Given the description of an element on the screen output the (x, y) to click on. 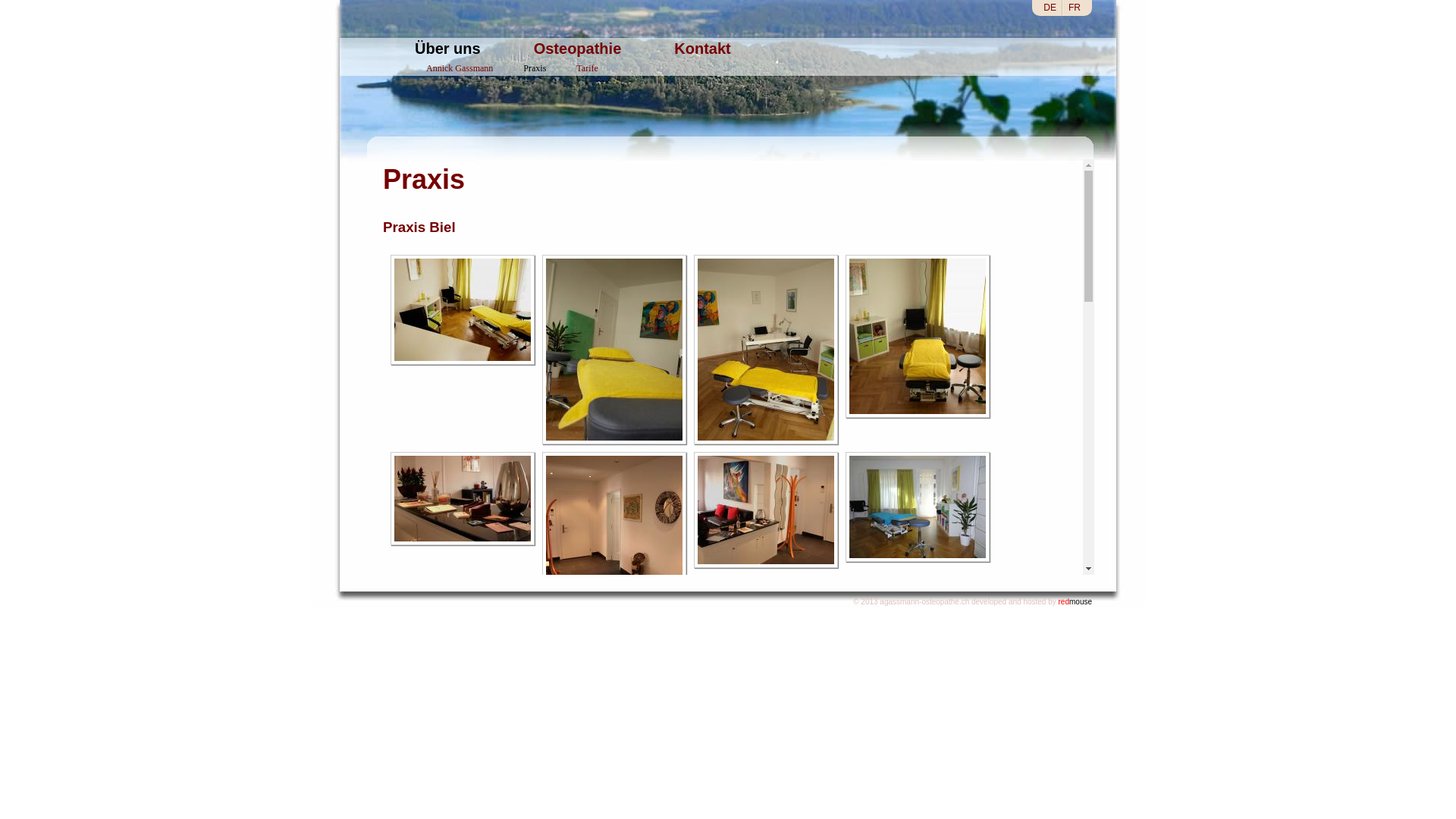
Osteopathie Element type: text (577, 48)
Annick Gassmann Element type: text (447, 67)
Tarife Element type: text (575, 67)
Praxis Element type: text (523, 67)
redmouse Element type: text (1075, 601)
Kontakt Element type: text (702, 48)
